Given the description of an element on the screen output the (x, y) to click on. 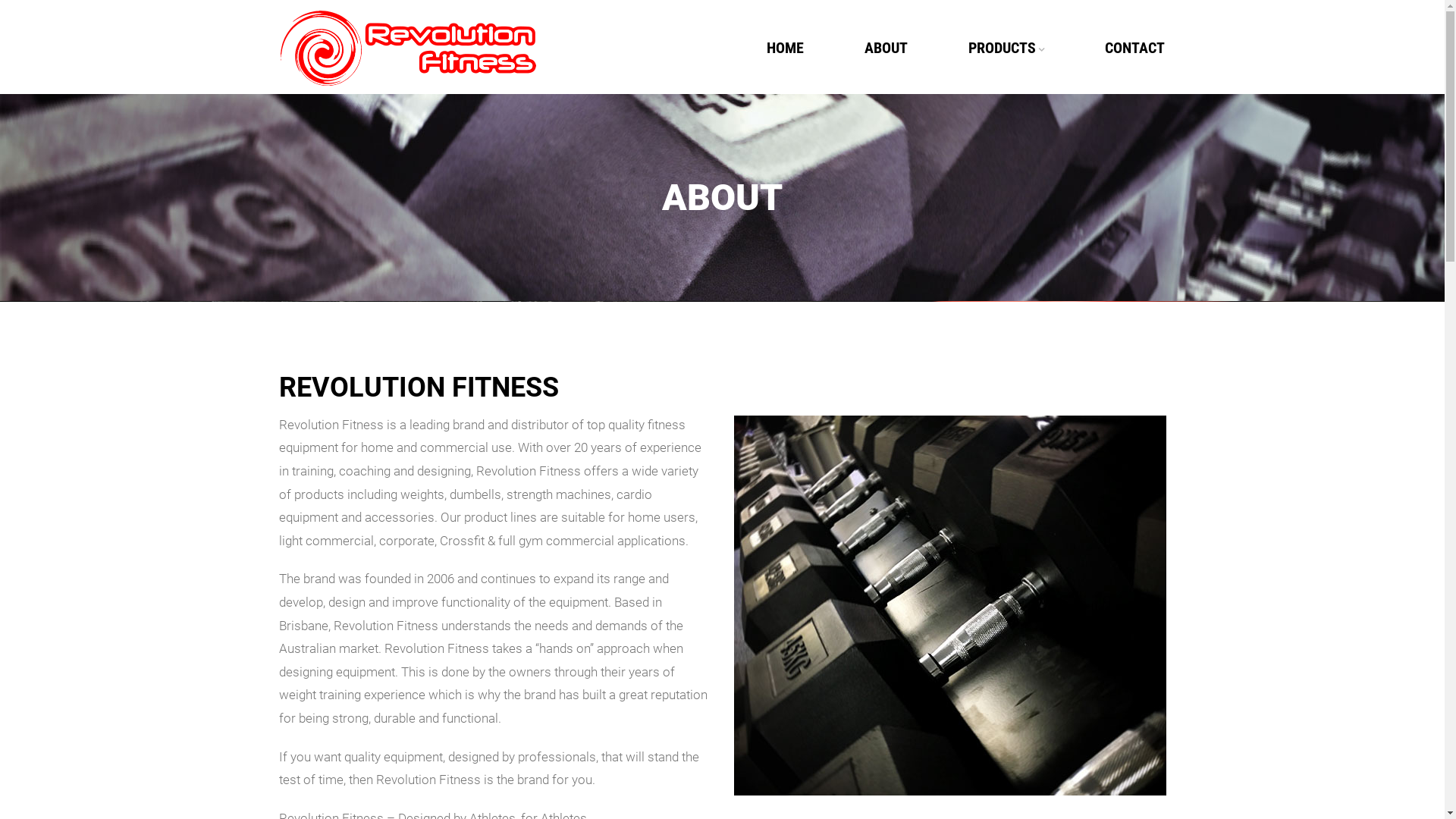
ABOUT Element type: text (886, 46)
PRODUCTS Element type: text (1006, 46)
CONTACT Element type: text (1119, 46)
HOME Element type: text (785, 46)
